Given the description of an element on the screen output the (x, y) to click on. 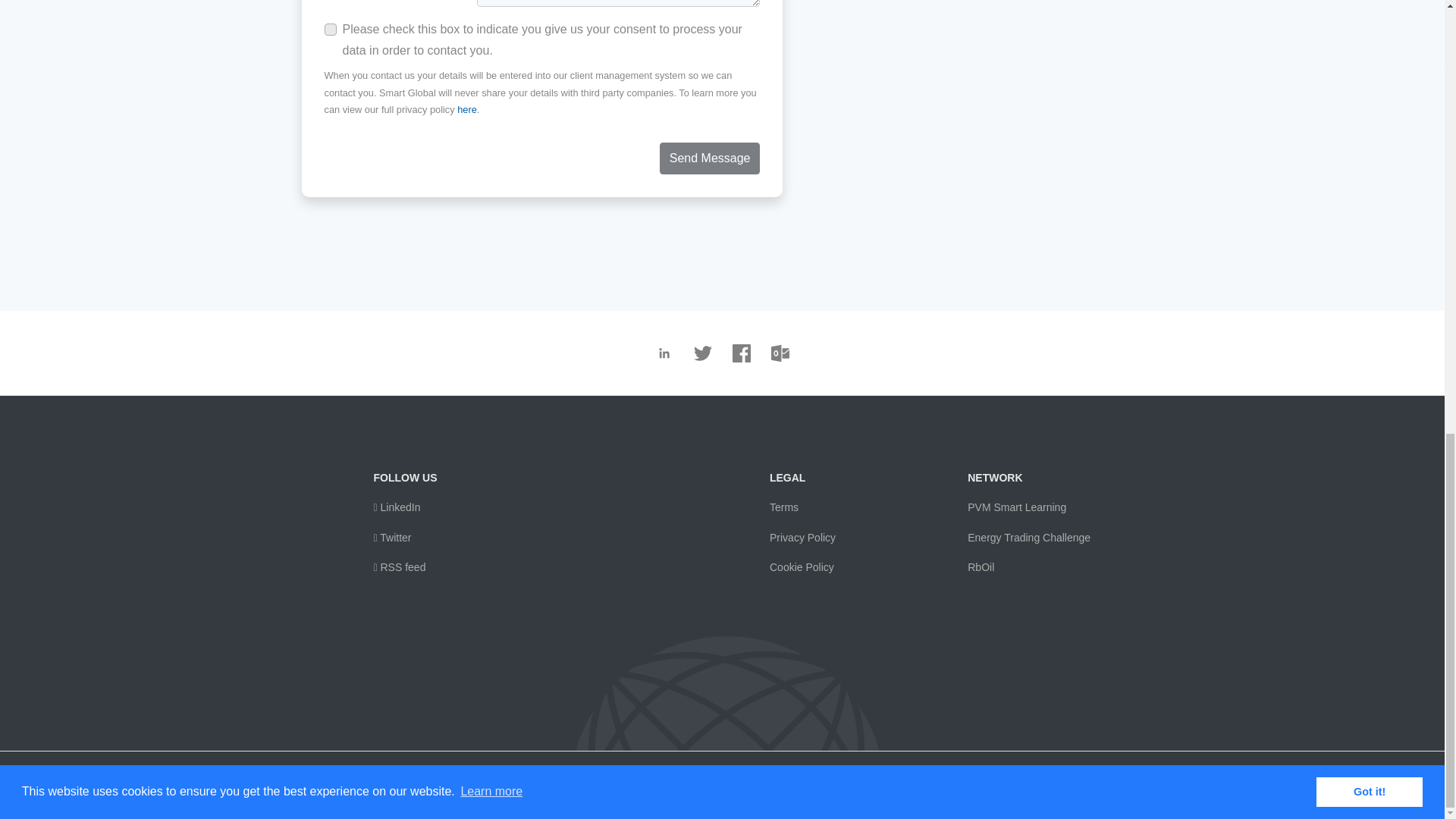
Share on Facebook (741, 352)
Email (780, 352)
Share on Twitter (702, 352)
